Given the description of an element on the screen output the (x, y) to click on. 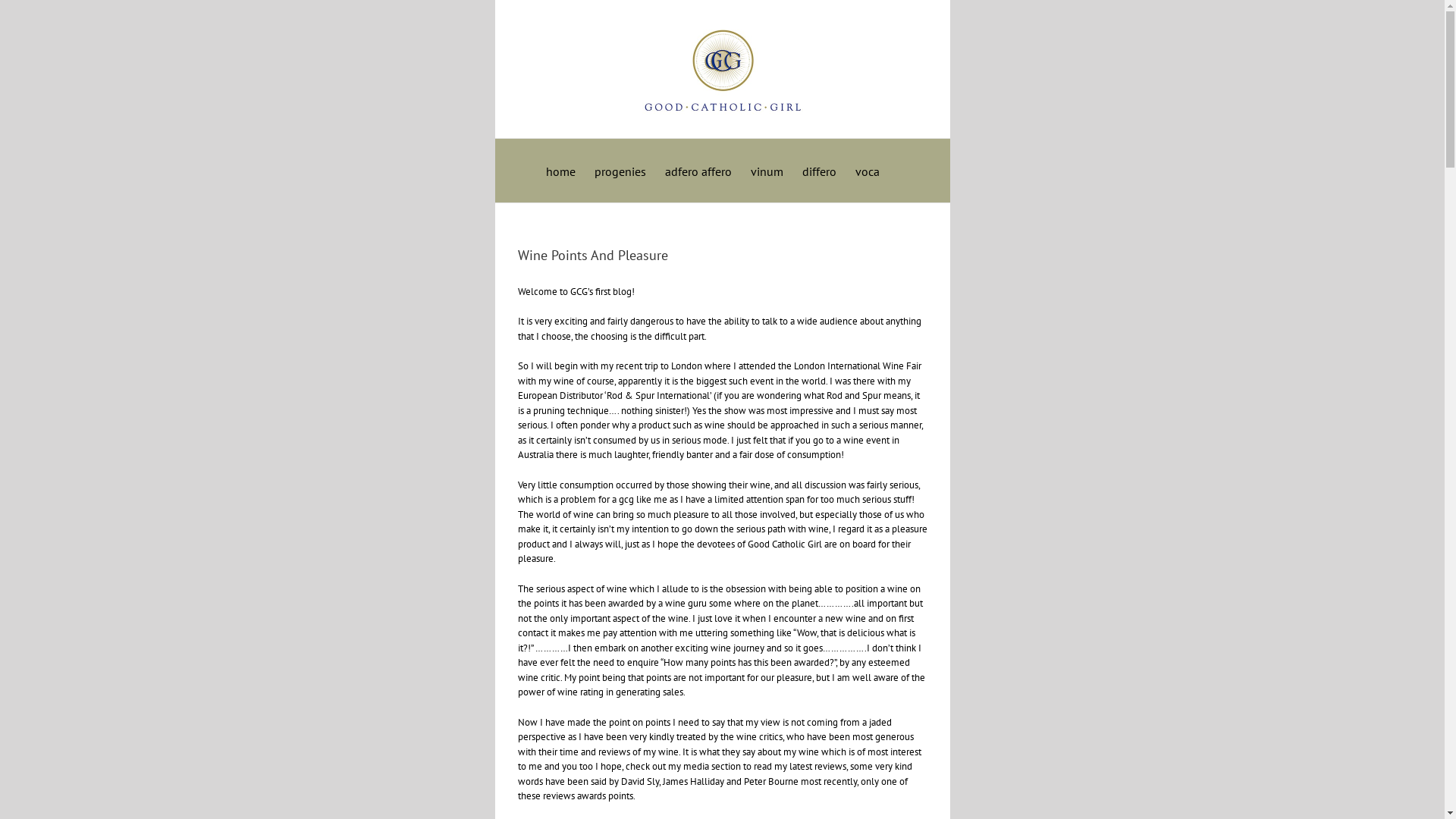
Wine Points And Pleasure Element type: text (592, 254)
differo Element type: text (819, 169)
progenies Element type: text (620, 169)
vinum Element type: text (766, 169)
home Element type: text (560, 169)
voca Element type: text (867, 169)
adfero affero Element type: text (698, 169)
